Given the description of an element on the screen output the (x, y) to click on. 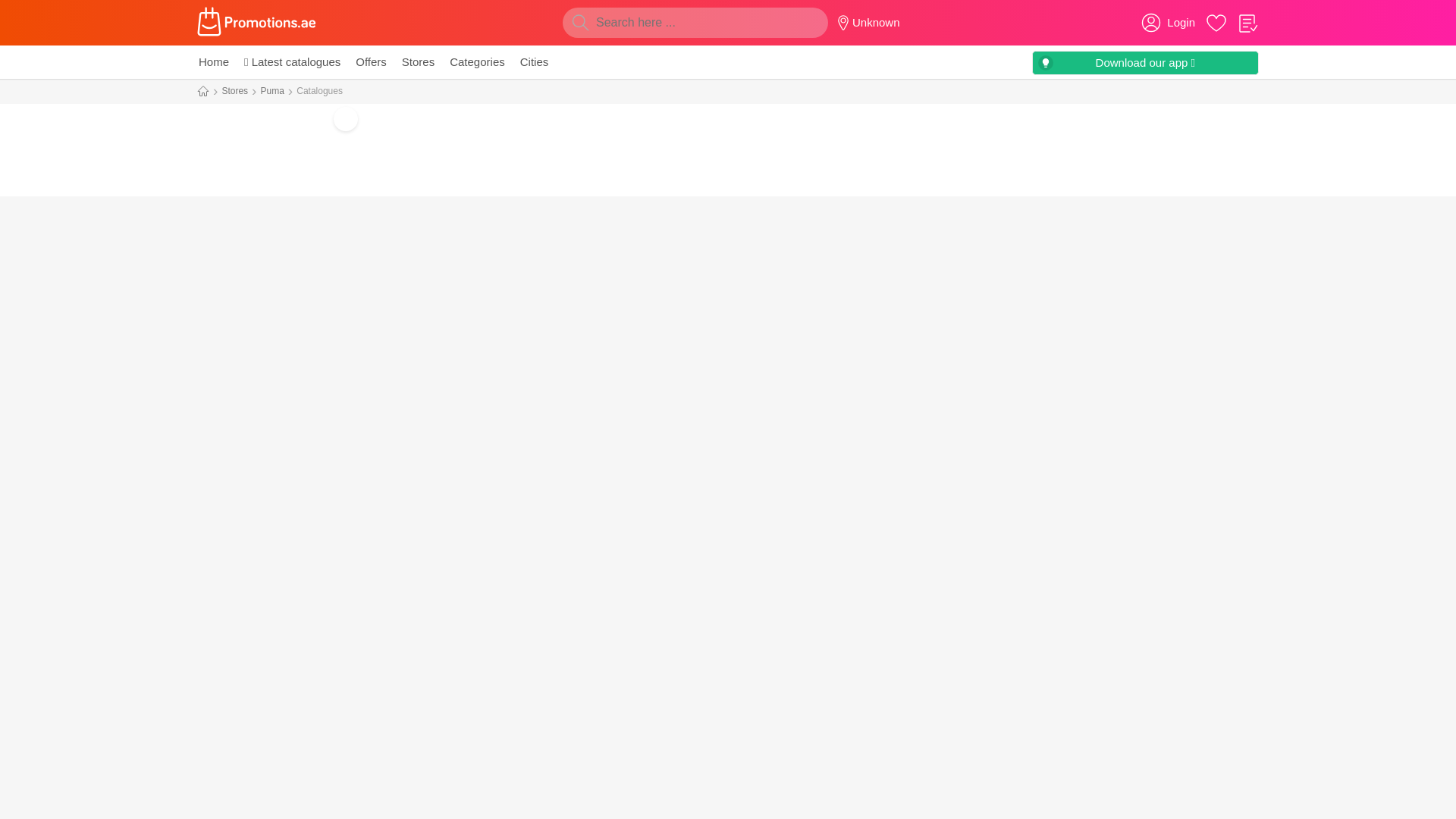
Categories (477, 61)
Stores (417, 61)
Offers (370, 61)
Puma (271, 90)
Home (213, 61)
Cities (534, 61)
Stores (234, 90)
